Given the description of an element on the screen output the (x, y) to click on. 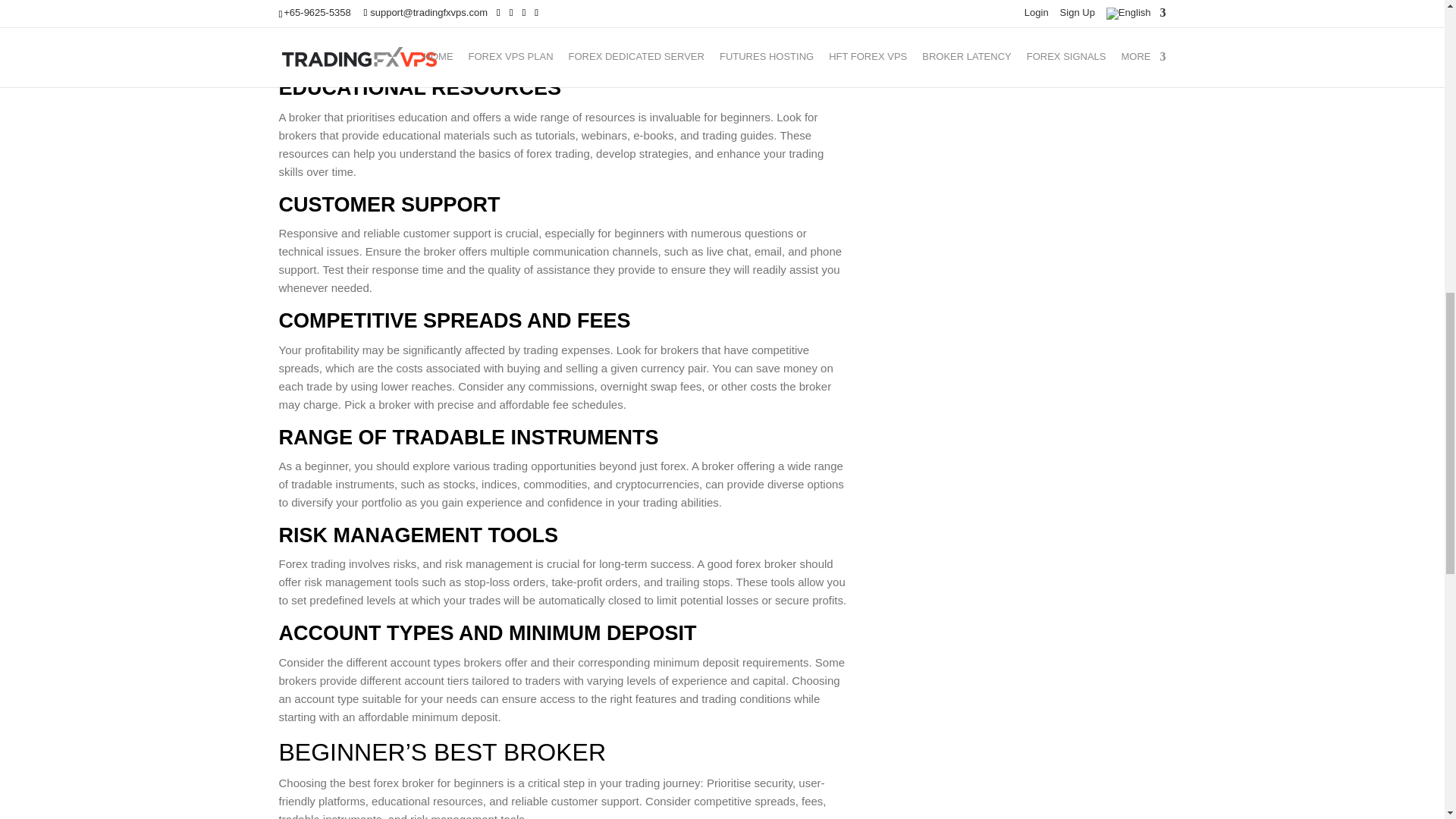
High-Frequency Trading Forex (420, 18)
Forex Dedicated Server (761, 3)
